Given the description of an element on the screen output the (x, y) to click on. 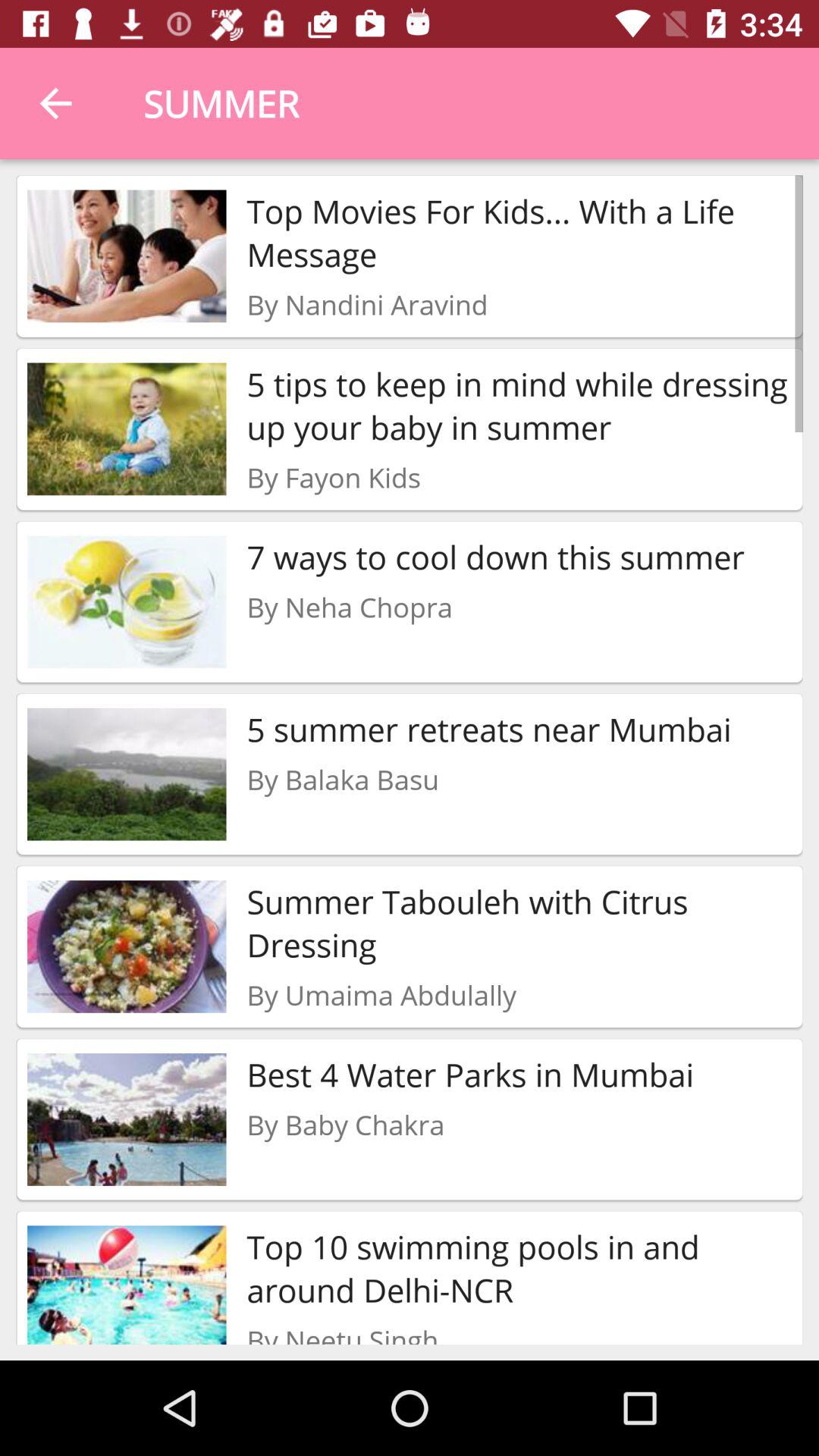
scroll until the 5 tips to icon (519, 405)
